Given the description of an element on the screen output the (x, y) to click on. 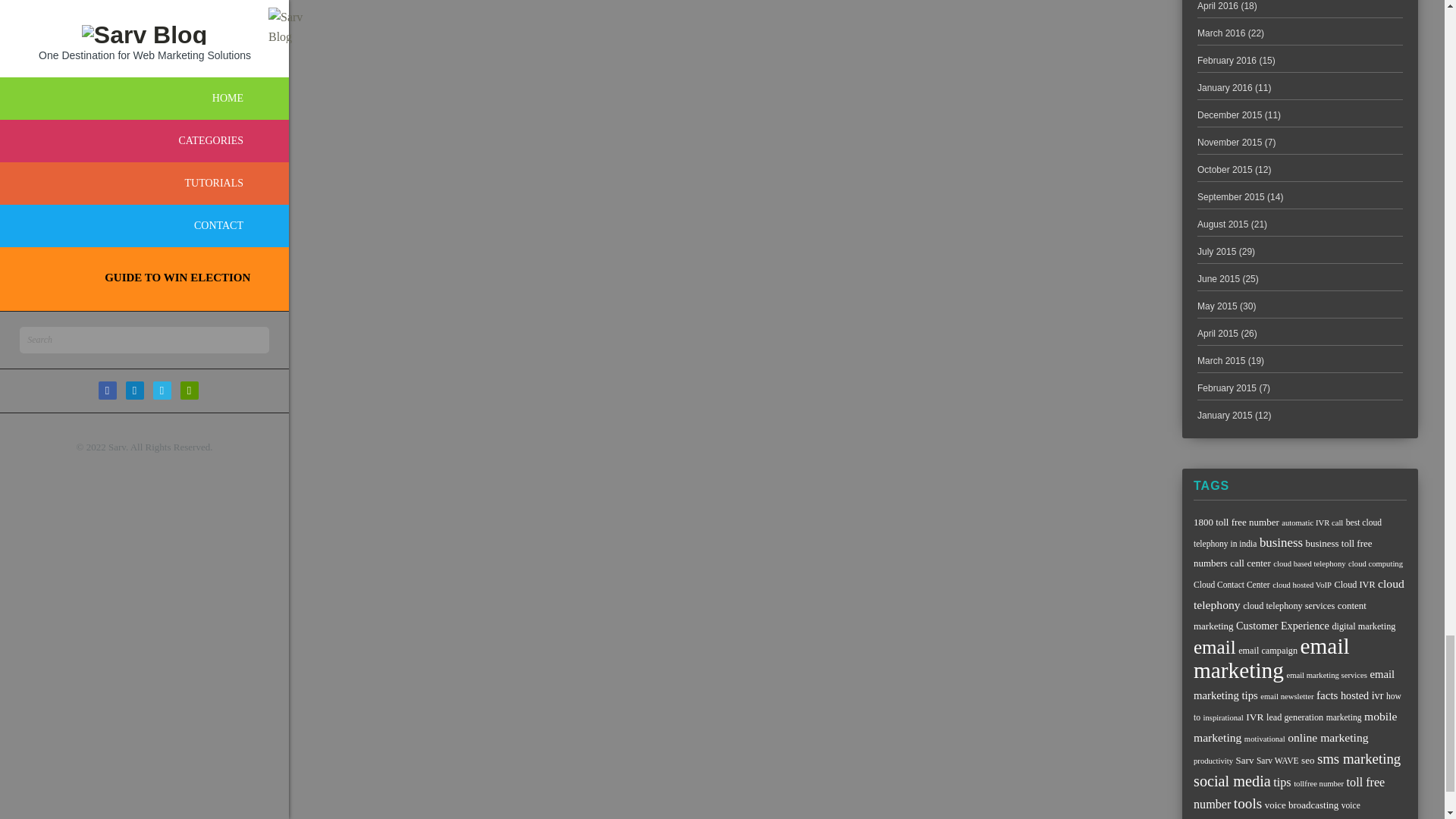
8 topics (1308, 563)
11 topics (1250, 562)
8 topics (1302, 584)
9 topics (1287, 532)
11 topics (1282, 552)
9 topics (1231, 583)
19 topics (1281, 542)
10 topics (1353, 584)
10 topics (1289, 605)
16 topics (1299, 593)
8 topics (1311, 522)
11 topics (1236, 521)
8 topics (1375, 563)
